Given the description of an element on the screen output the (x, y) to click on. 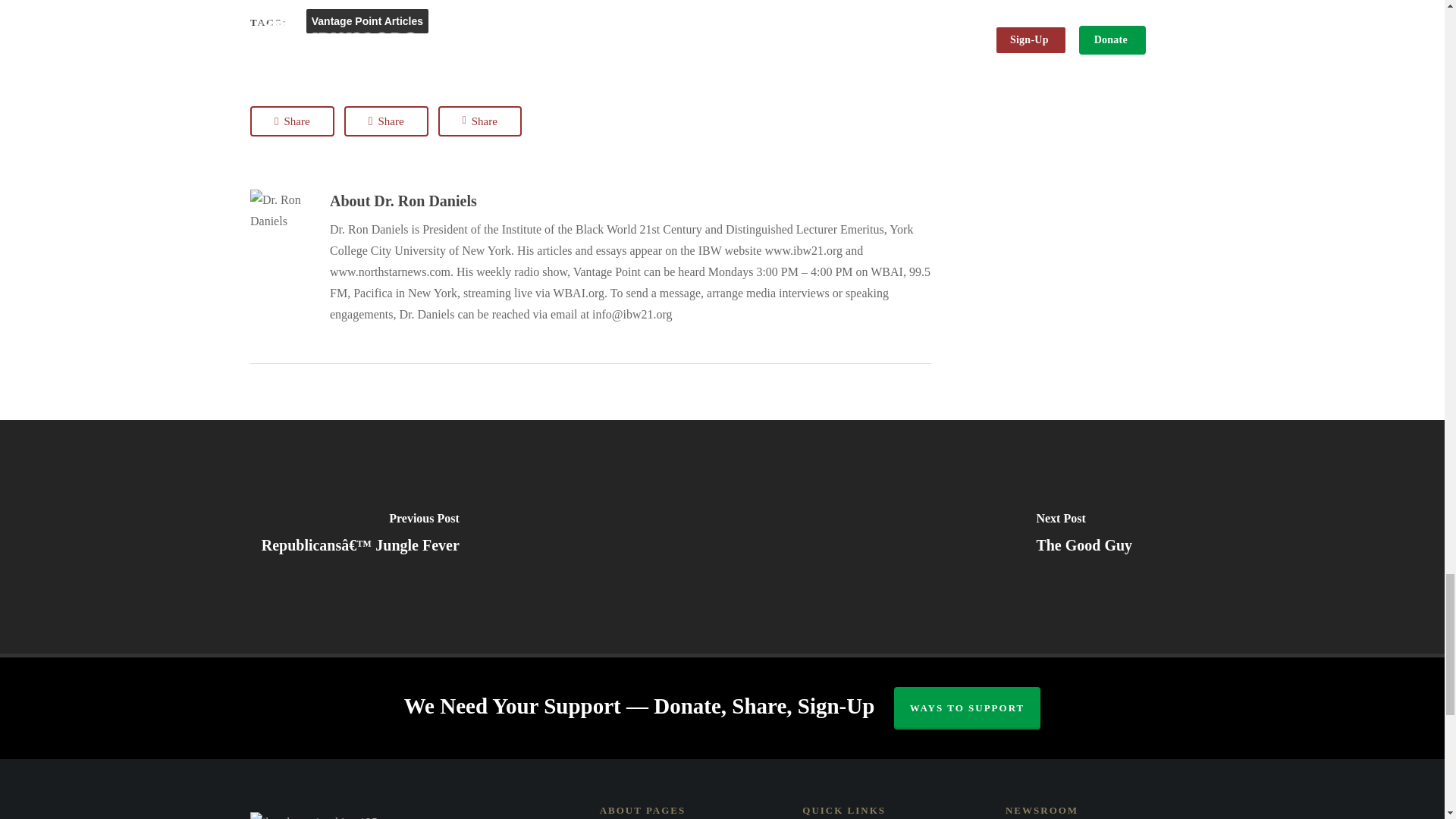
Vantage Point Articles (366, 21)
Share this (479, 121)
Share this (385, 121)
Share this (292, 121)
